Given the description of an element on the screen output the (x, y) to click on. 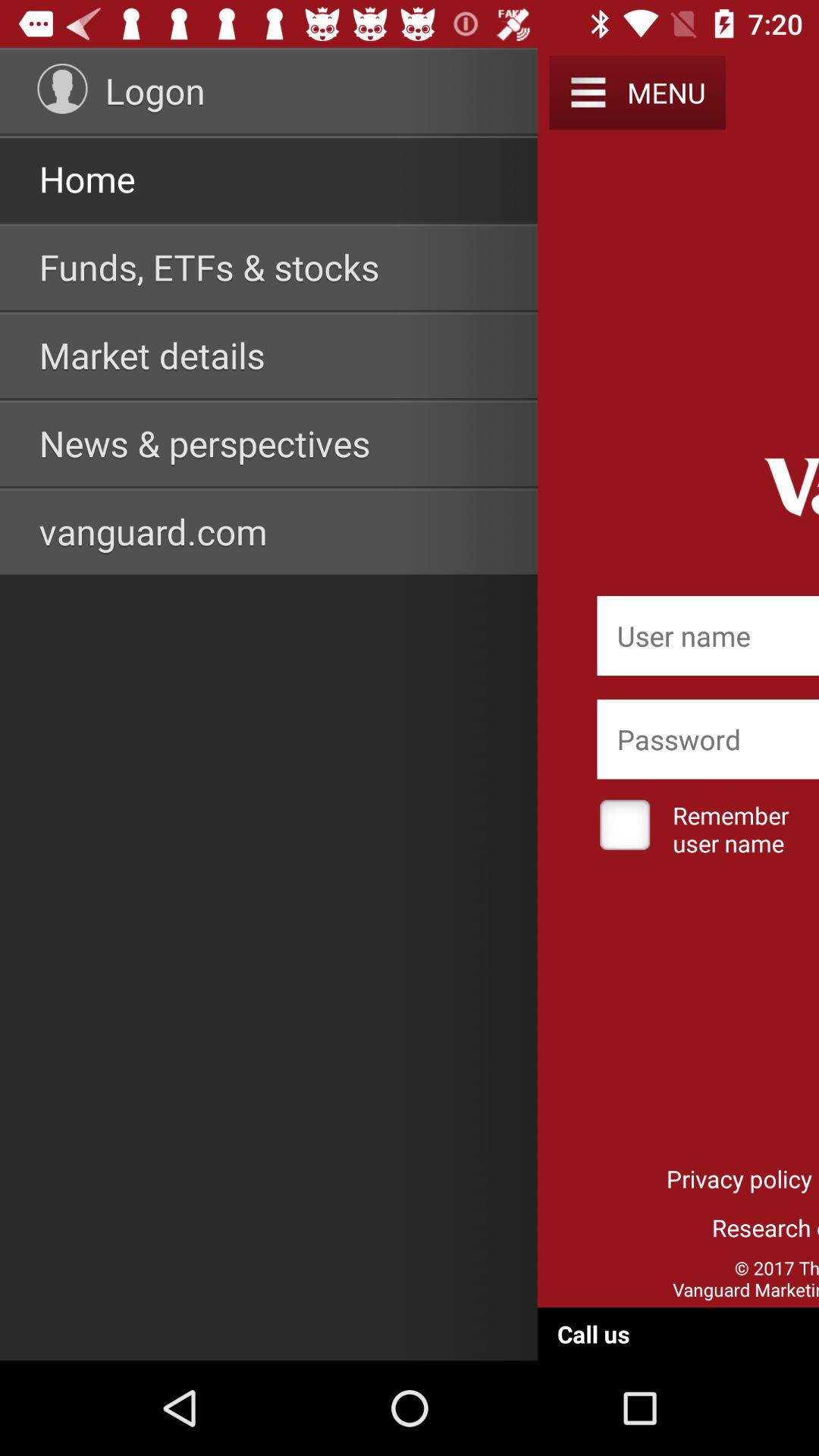
enter username (708, 635)
